Given the description of an element on the screen output the (x, y) to click on. 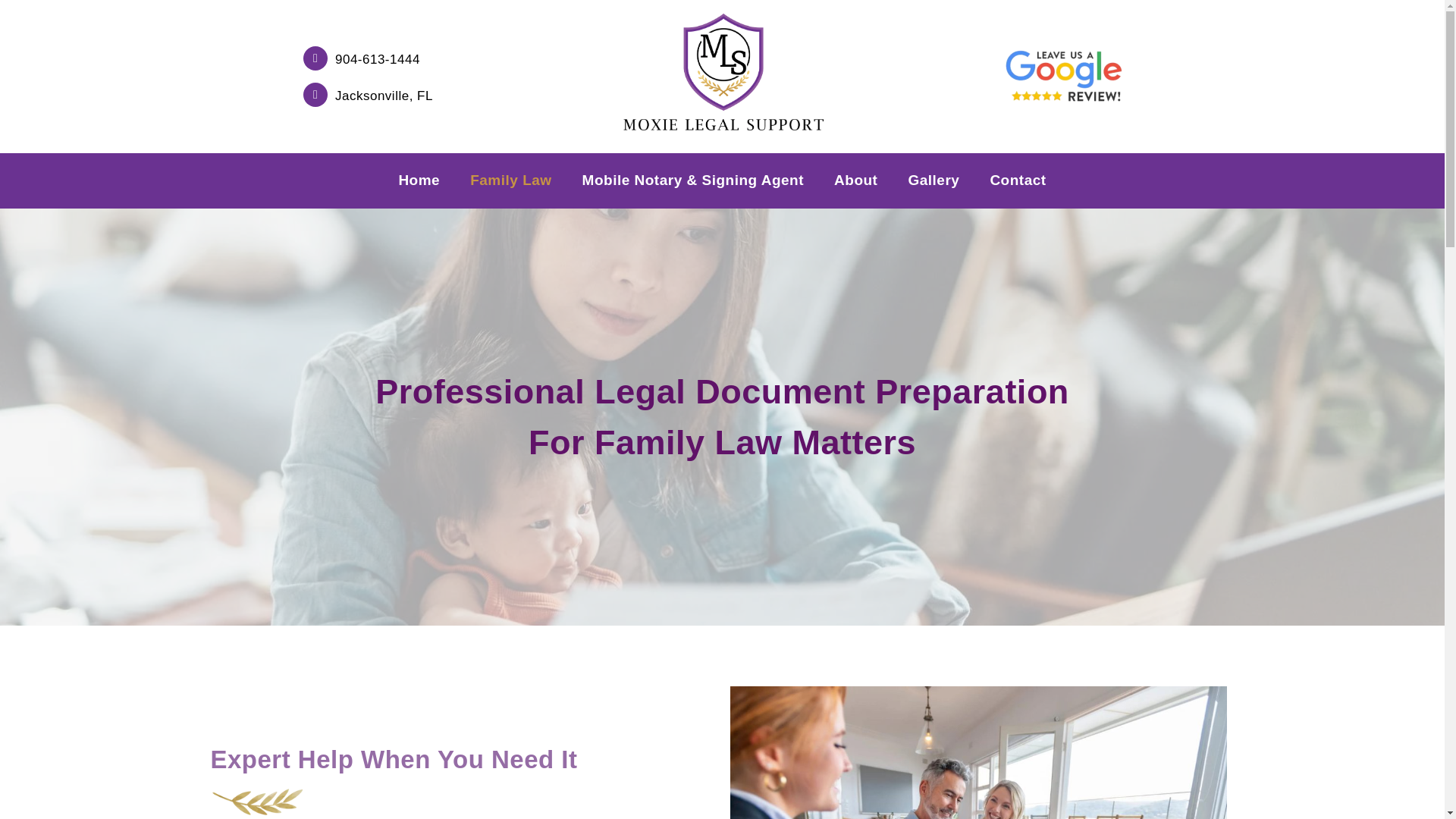
Gallery (933, 180)
Contact (1017, 180)
About (855, 180)
904-613-1444 (377, 59)
Jacksonville, FL (383, 95)
Home (418, 180)
Family Law (510, 180)
